Given the description of an element on the screen output the (x, y) to click on. 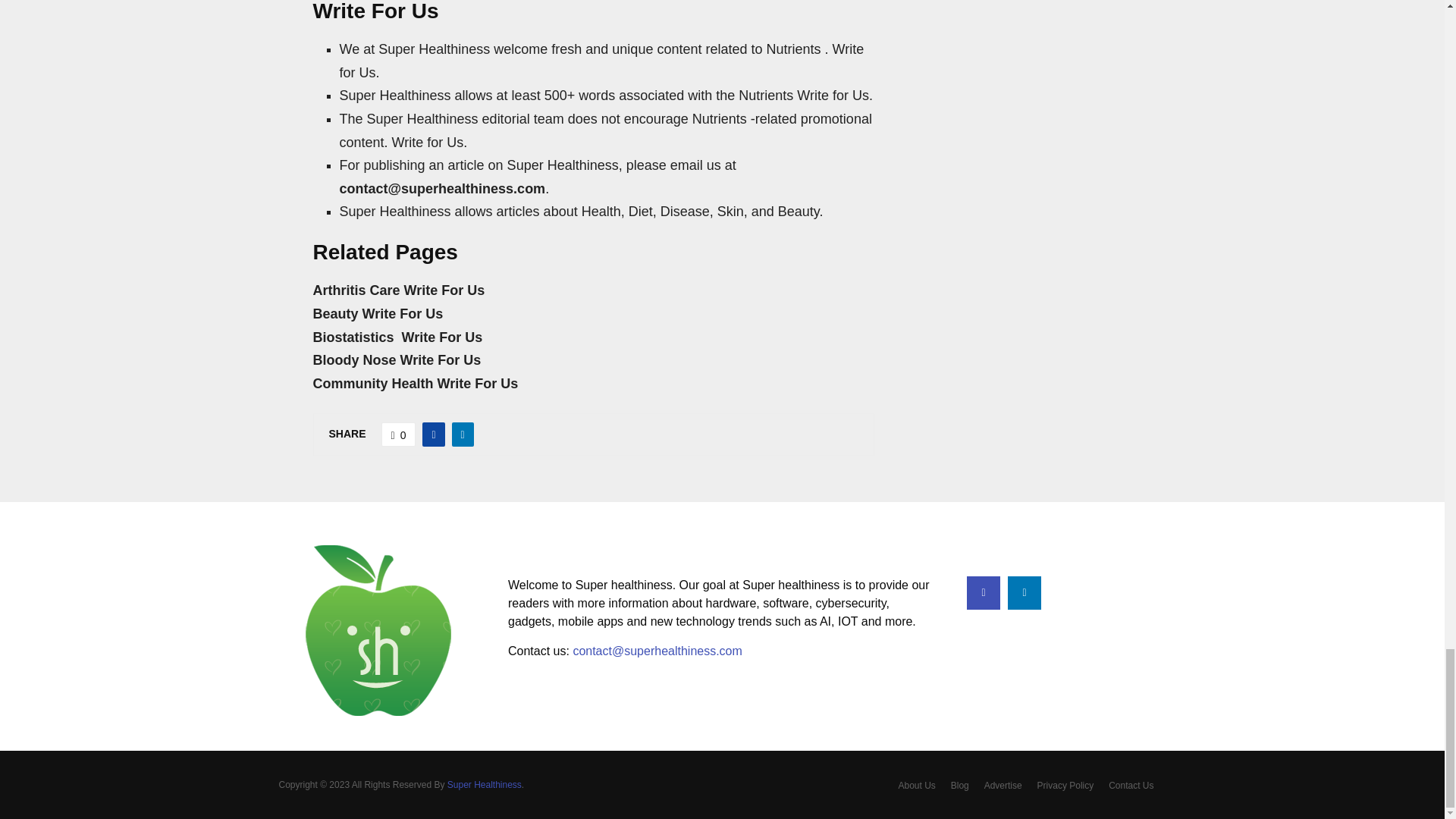
Beauty Write For Us (377, 313)
Facebook (983, 592)
Biostatistics  Write For Us (397, 337)
Community Health Write For Us (415, 383)
Like (398, 434)
Arthritis Care Write For Us (398, 290)
Bloody Nose Write For Us (396, 359)
Linkedin (1024, 592)
0 (398, 434)
